Given the description of an element on the screen output the (x, y) to click on. 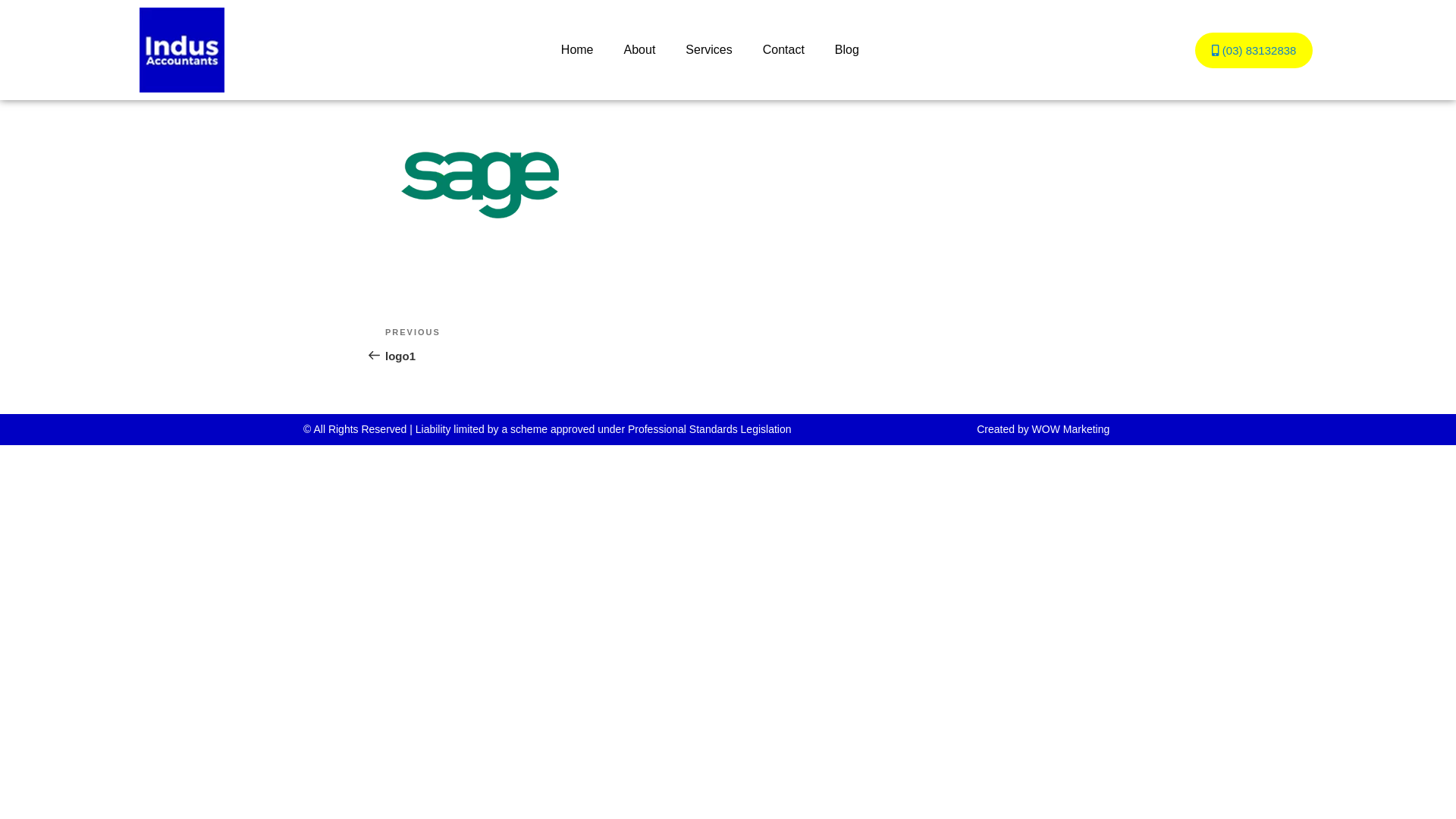
Contact Element type: text (783, 49)
Blog Element type: text (846, 49)
Home Element type: text (577, 49)
About Element type: text (639, 49)
(03) 83132838 Element type: text (1254, 49)
Services Element type: text (708, 49)
PREVIOUS
logo1 Element type: text (556, 344)
WOW Marketing Element type: text (1071, 429)
